Given the description of an element on the screen output the (x, y) to click on. 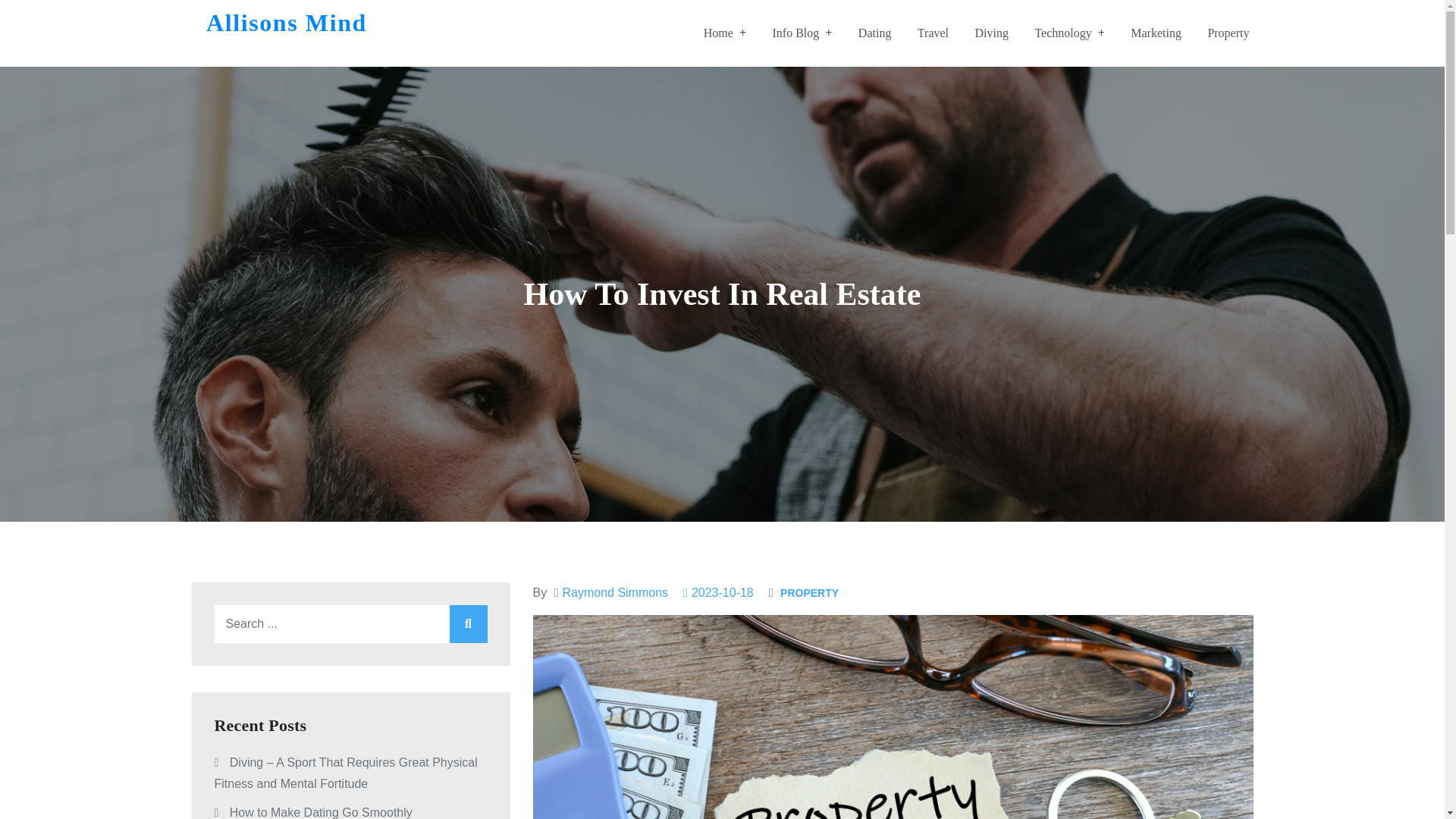
Raymond Simmons (615, 592)
Property (1228, 33)
Home (724, 33)
Info Blog (801, 33)
Search (467, 623)
Diving (990, 33)
Marketing (1155, 33)
Travel (933, 33)
Dating (875, 33)
Allisons Mind (286, 22)
PROPERTY (809, 592)
Search for: (350, 623)
How to Make Dating Go Smoothly (321, 812)
2023-10-18 (718, 592)
Technology (1068, 33)
